Given the description of an element on the screen output the (x, y) to click on. 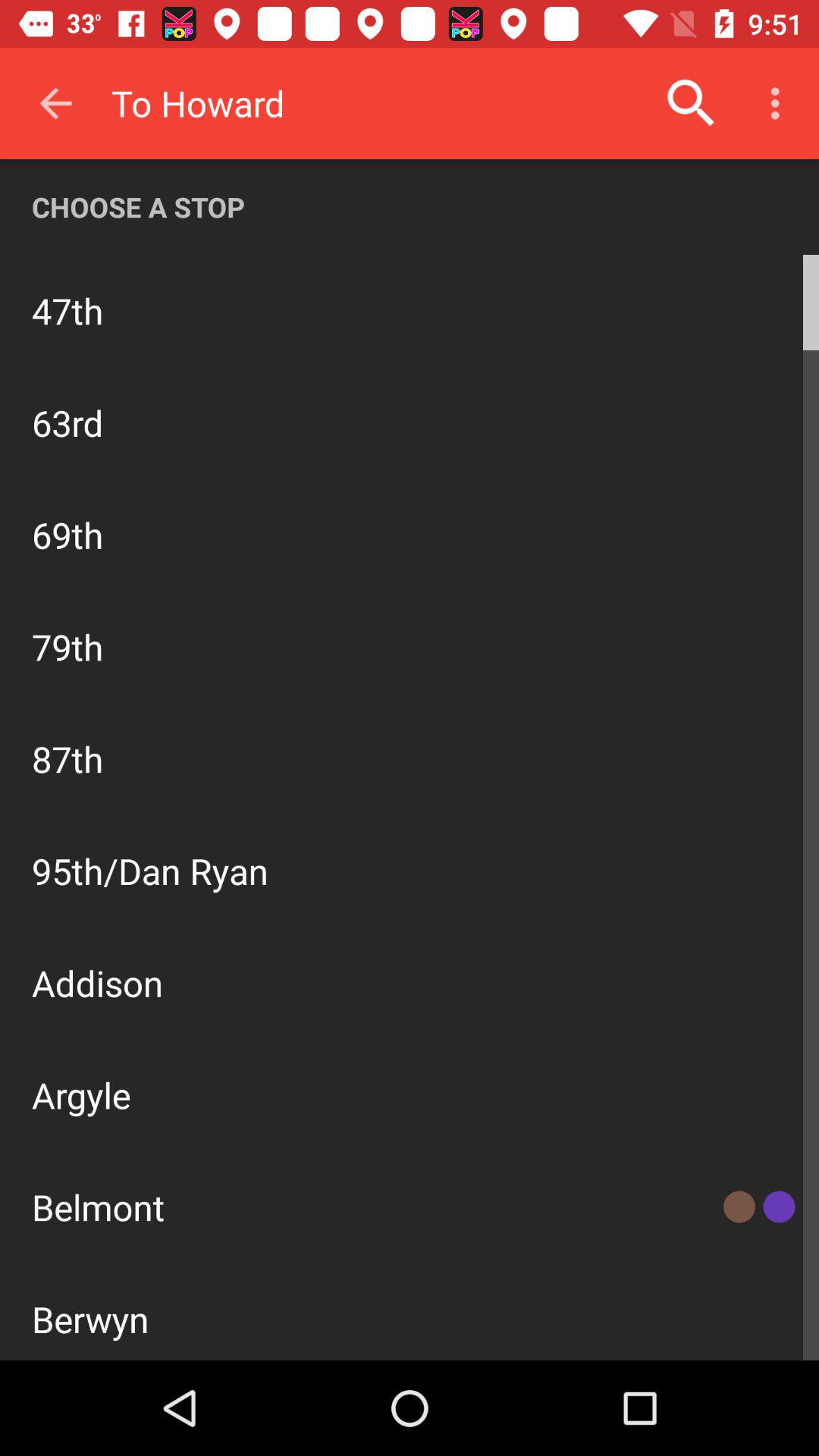
click item at the center (409, 819)
